Given the description of an element on the screen output the (x, y) to click on. 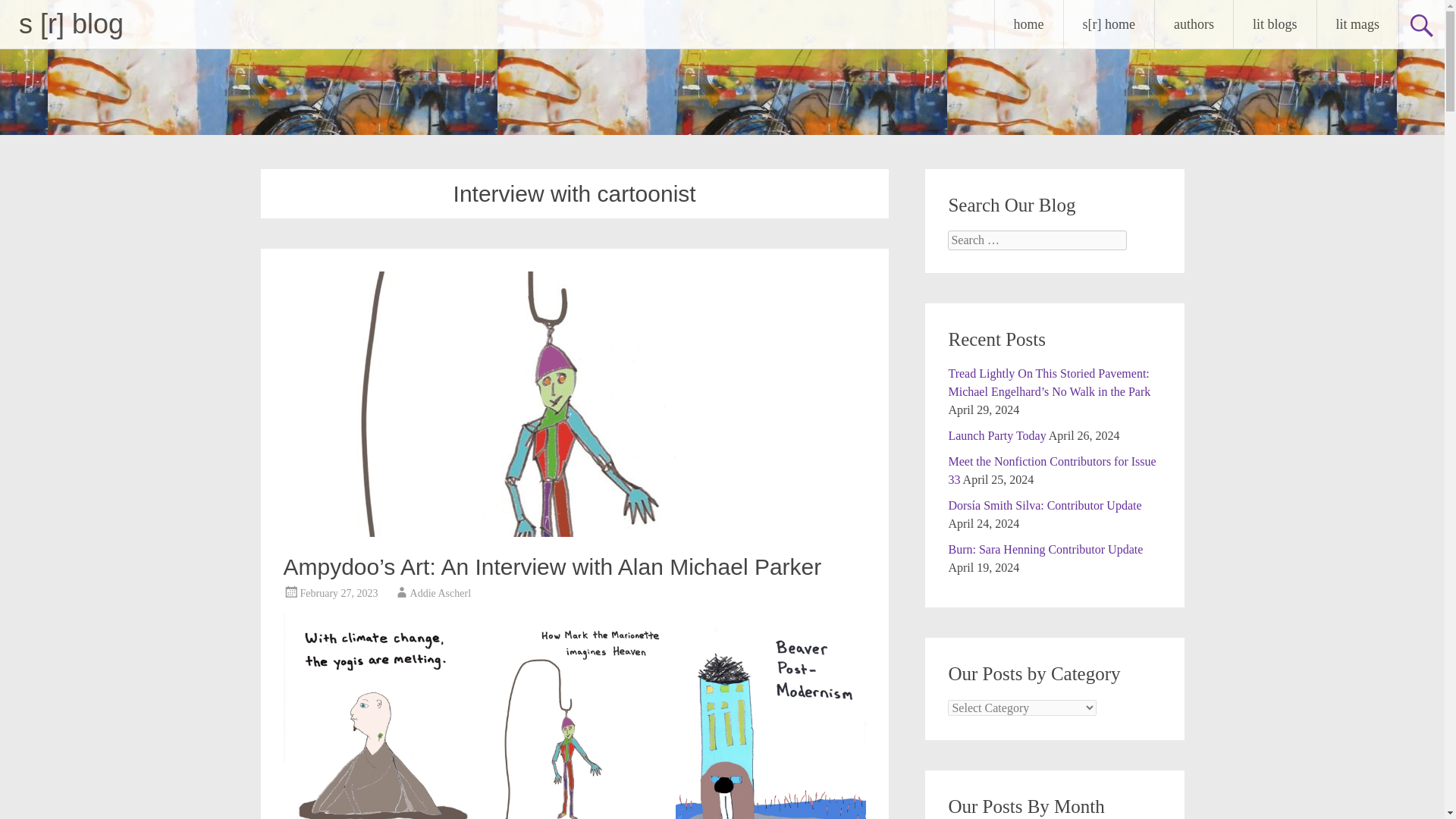
authors (1193, 24)
Search (26, 12)
February 27, 2023 (338, 593)
home (1028, 24)
Burn: Sara Henning Contributor Update (1044, 549)
Launch Party Today (996, 435)
Addie Ascherl (440, 593)
lit mags (1356, 24)
lit blogs (1274, 24)
Meet the Nonfiction Contributors for Issue 33 (1051, 470)
